Given the description of an element on the screen output the (x, y) to click on. 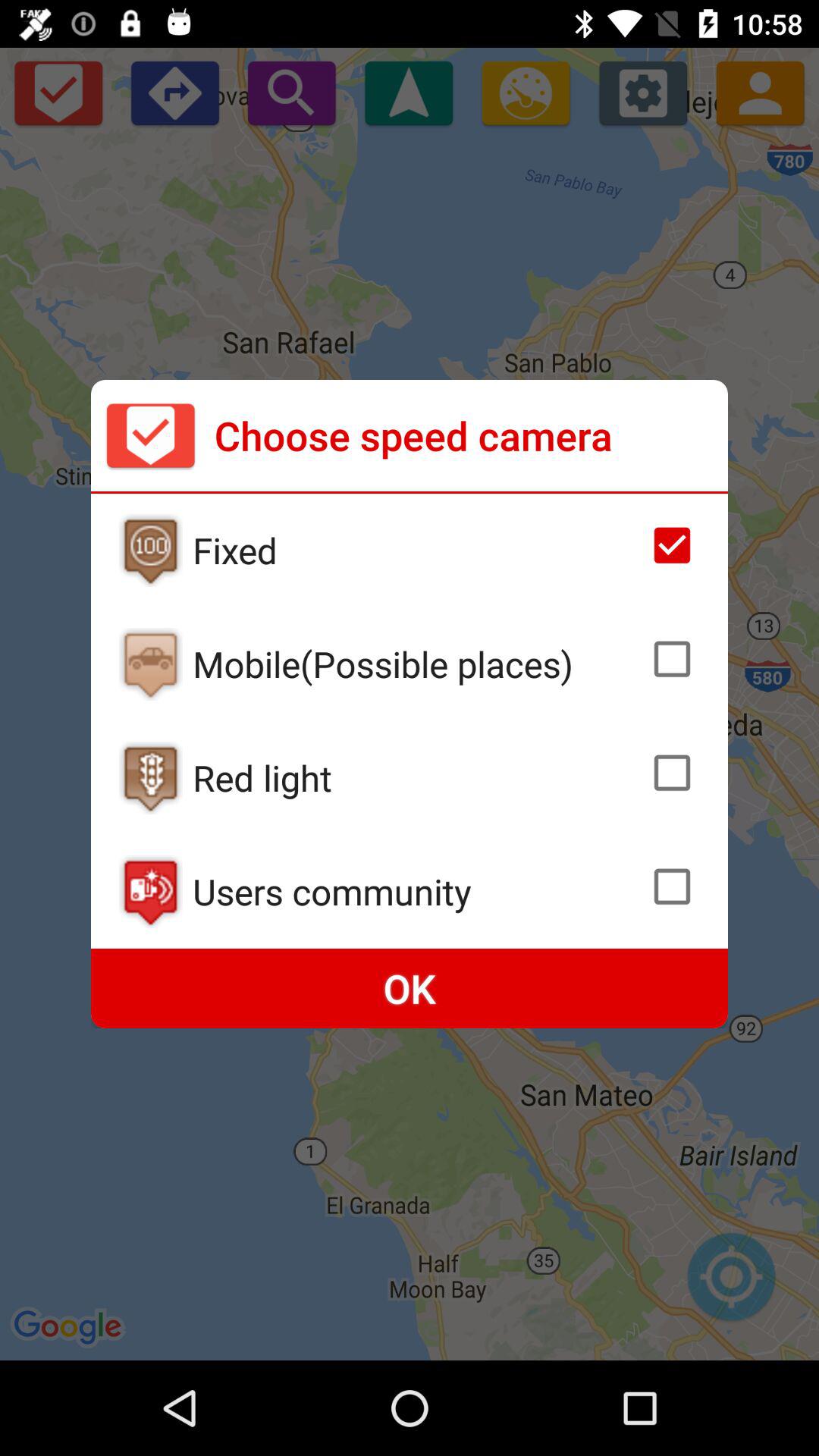
launch users community (416, 891)
